Given the description of an element on the screen output the (x, y) to click on. 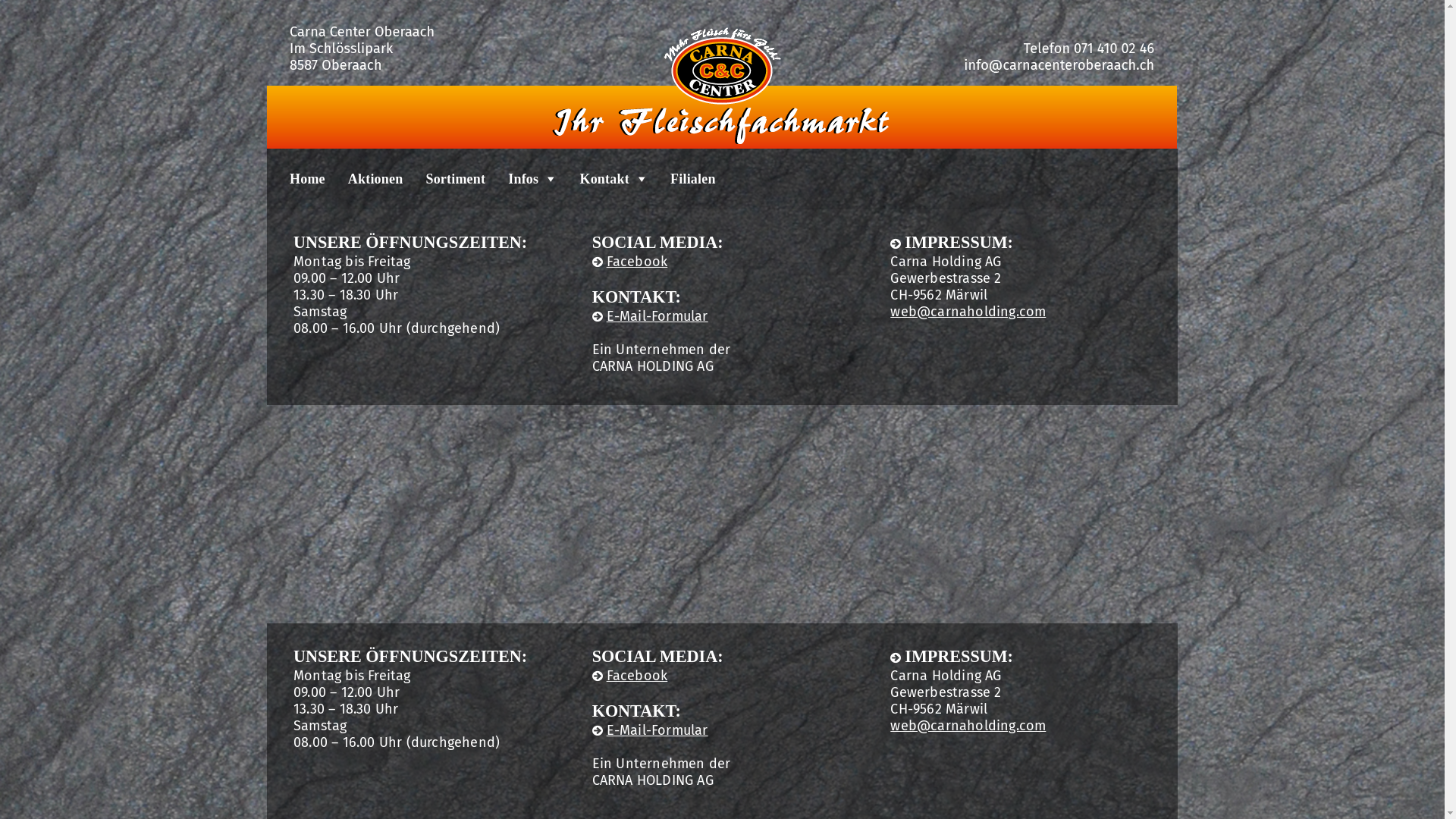
Kontakt Element type: text (601, 178)
IMPRESSUM: Element type: text (951, 241)
web@carnaholding.com Element type: text (967, 725)
IMPRESSUM: Element type: text (951, 655)
Infos Element type: text (520, 178)
Filialen Element type: text (681, 178)
Facebook Element type: text (630, 261)
Home Element type: text (295, 178)
Facebook Element type: text (630, 675)
E-Mail-Formular Element type: text (650, 729)
web@carnaholding.com Element type: text (967, 311)
E-Mail-Formular Element type: text (650, 315)
Sortiment Element type: text (443, 178)
Aktionen Element type: text (364, 178)
